Given the description of an element on the screen output the (x, y) to click on. 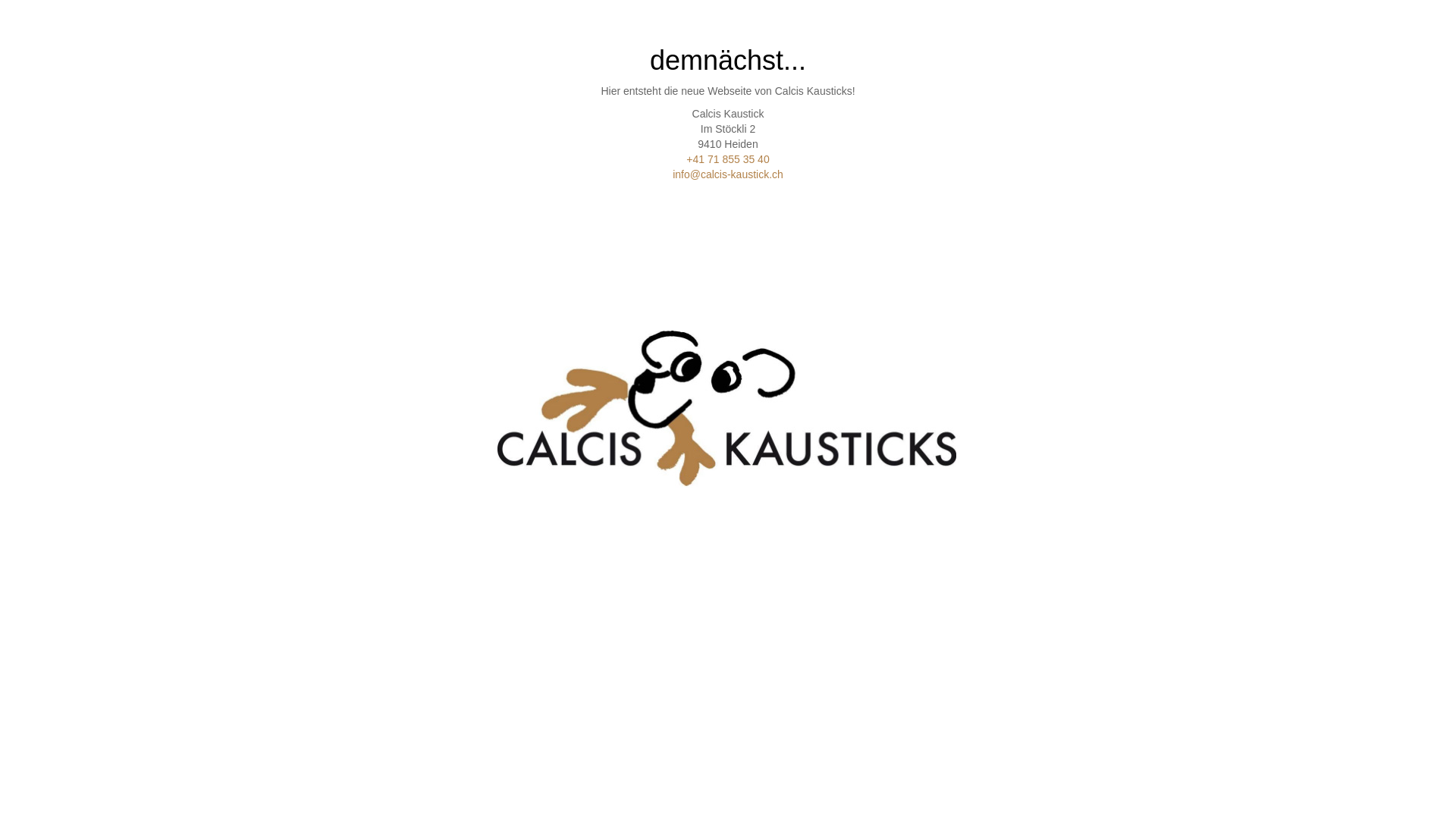
info@calcis-kaustick.ch Element type: text (727, 174)
+41 71 855 35 40 Element type: text (727, 159)
